Given the description of an element on the screen output the (x, y) to click on. 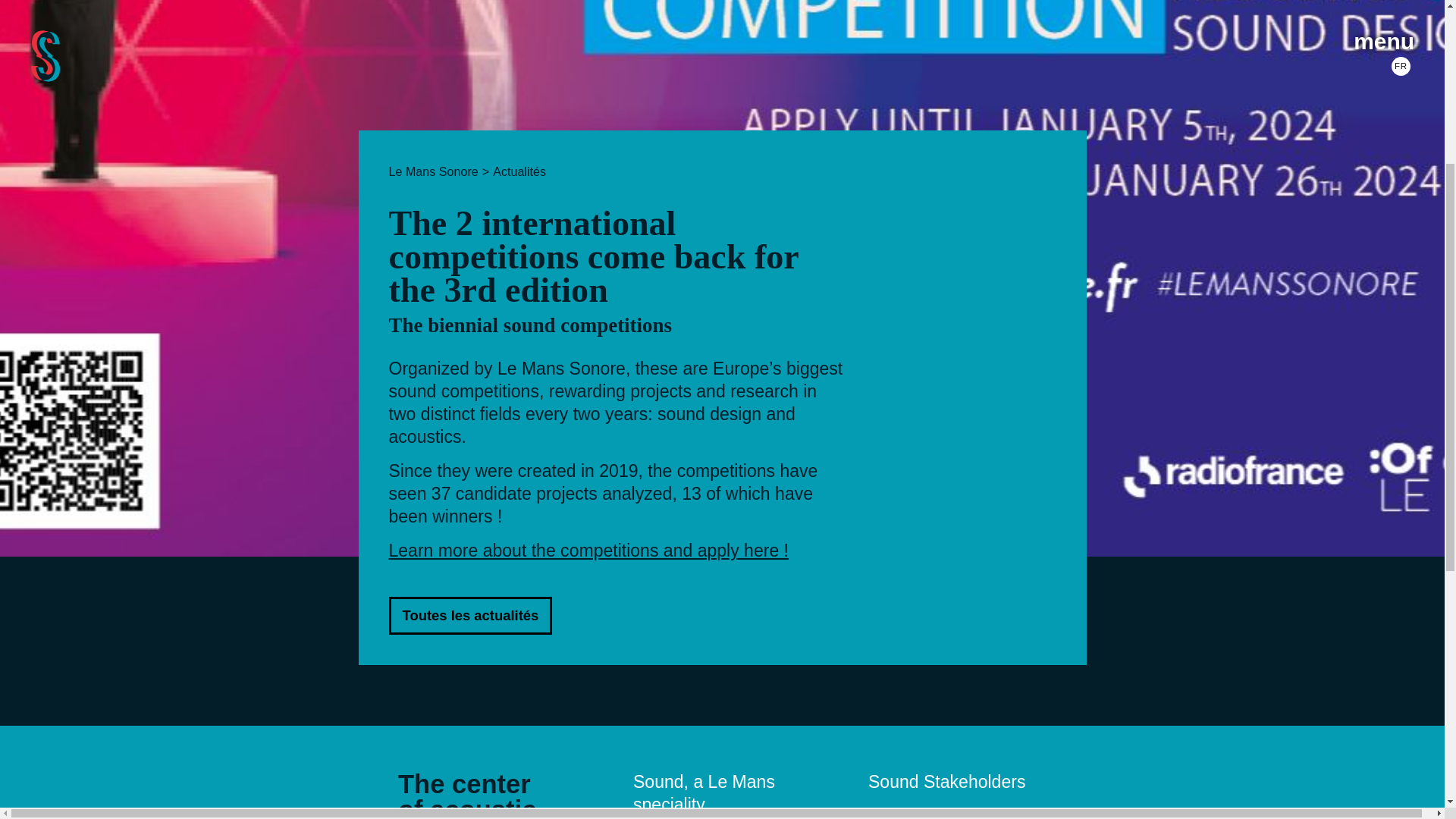
Le Mans Sonore (432, 171)
Learn more about the competitions and apply here ! (588, 550)
Sound, a Le Mans speciality (703, 793)
Sound Stakeholders (946, 781)
